Given the description of an element on the screen output the (x, y) to click on. 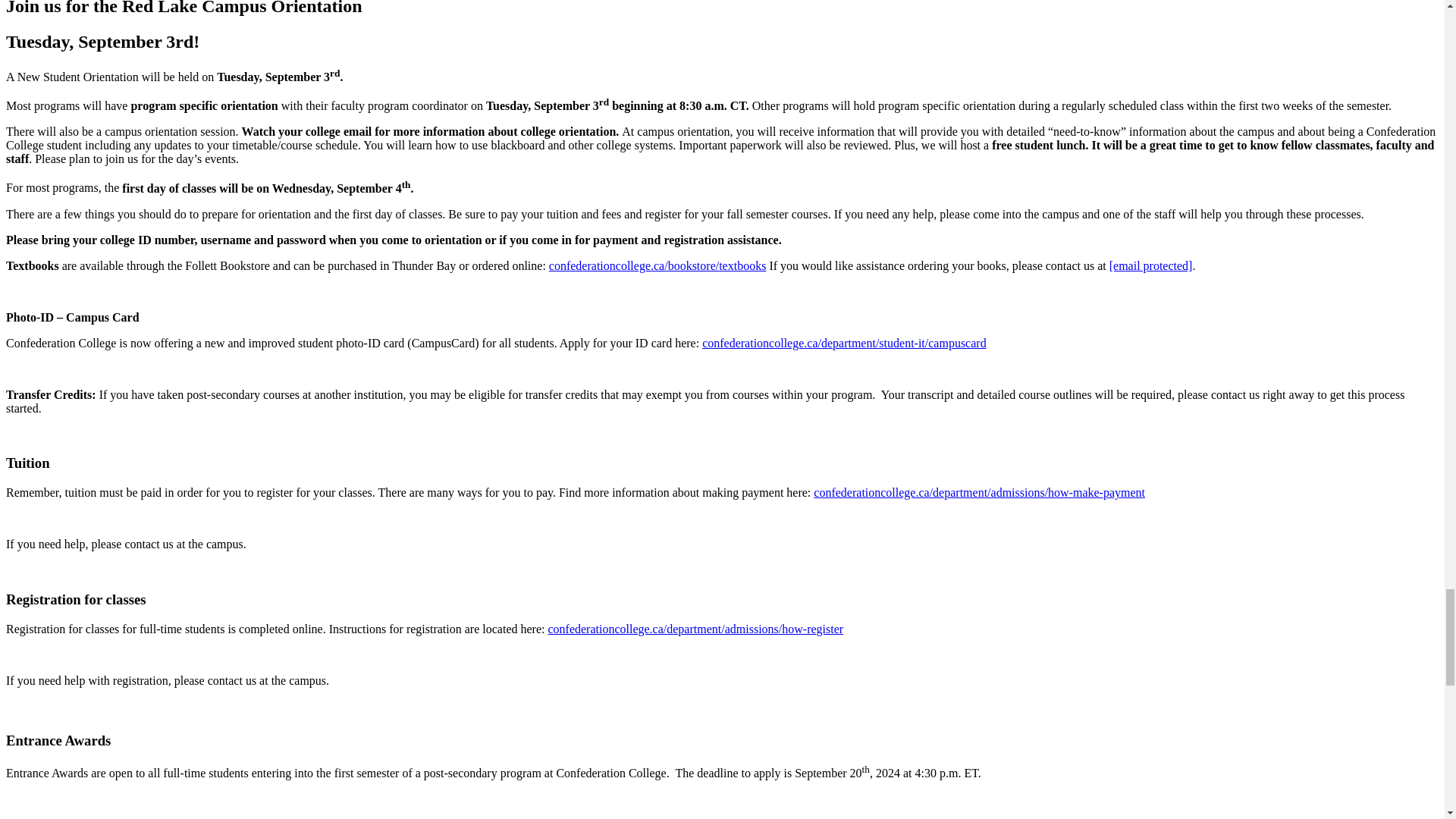
How To Register (695, 628)
Photo-ID - CampusCard (844, 342)
How To Make a Payment (978, 492)
